Given the description of an element on the screen output the (x, y) to click on. 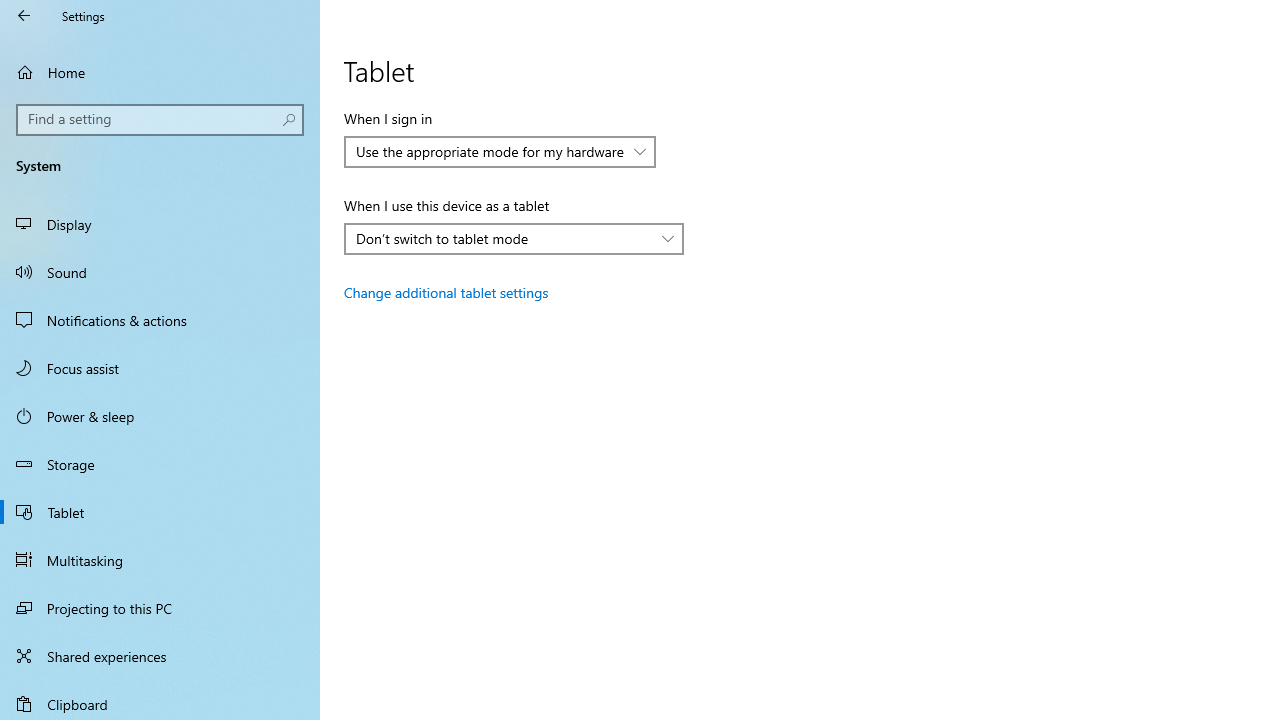
Storage (160, 463)
Projecting to this PC (160, 607)
Use the appropriate mode for my hardware (489, 151)
Notifications & actions (160, 319)
Change additional tablet settings (446, 291)
Shared experiences (160, 655)
When I sign in (499, 151)
Sound (160, 271)
Tablet (160, 511)
Power & sleep (160, 415)
When I use this device as a tablet (513, 238)
Multitasking (160, 559)
